Given the description of an element on the screen output the (x, y) to click on. 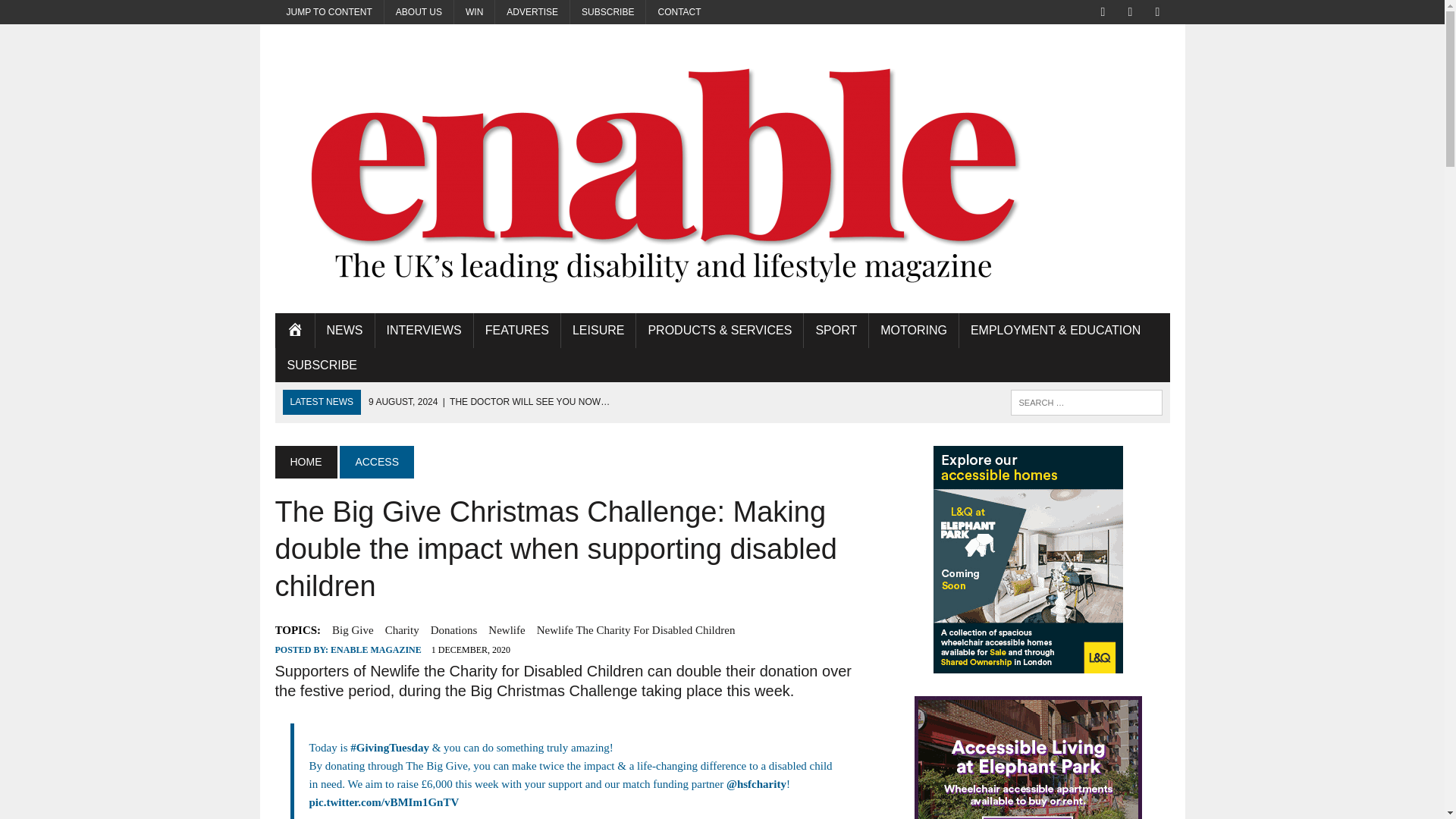
SUBSCRIBE (322, 365)
MOTORING (913, 330)
JUMP TO CONTENT (328, 12)
Follow us on Twitter (1129, 10)
HOME (294, 330)
ACCESS (376, 461)
Donations (453, 629)
Home (294, 330)
INTERVIEWS (422, 330)
Follow us on Facebook (1102, 10)
